Given the description of an element on the screen output the (x, y) to click on. 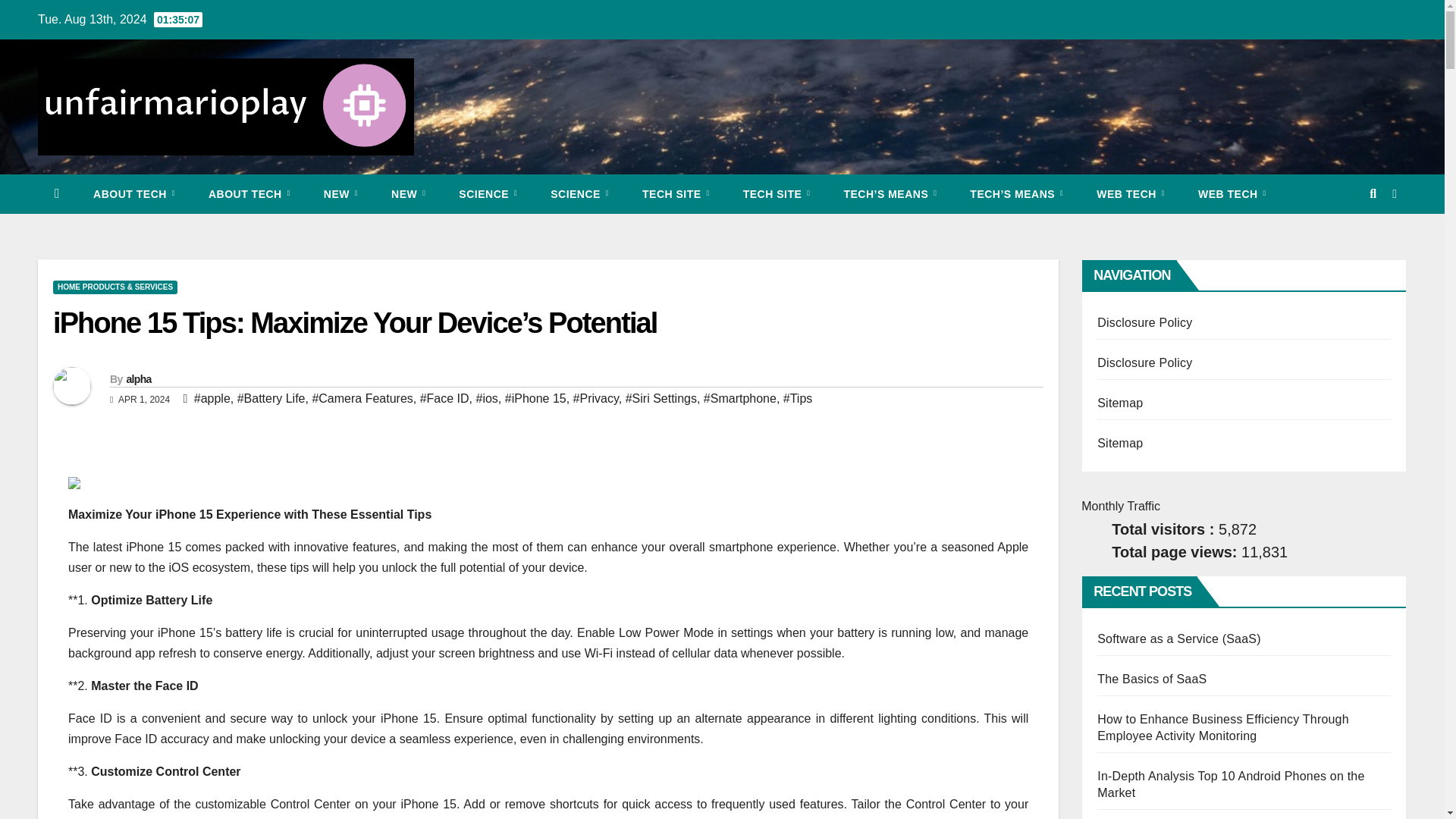
About Tech (249, 193)
NEW (340, 193)
New (340, 193)
NEW (408, 193)
SCIENCE (488, 193)
ABOUT TECH (134, 193)
About Tech (134, 193)
ABOUT TECH (249, 193)
